Given the description of an element on the screen output the (x, y) to click on. 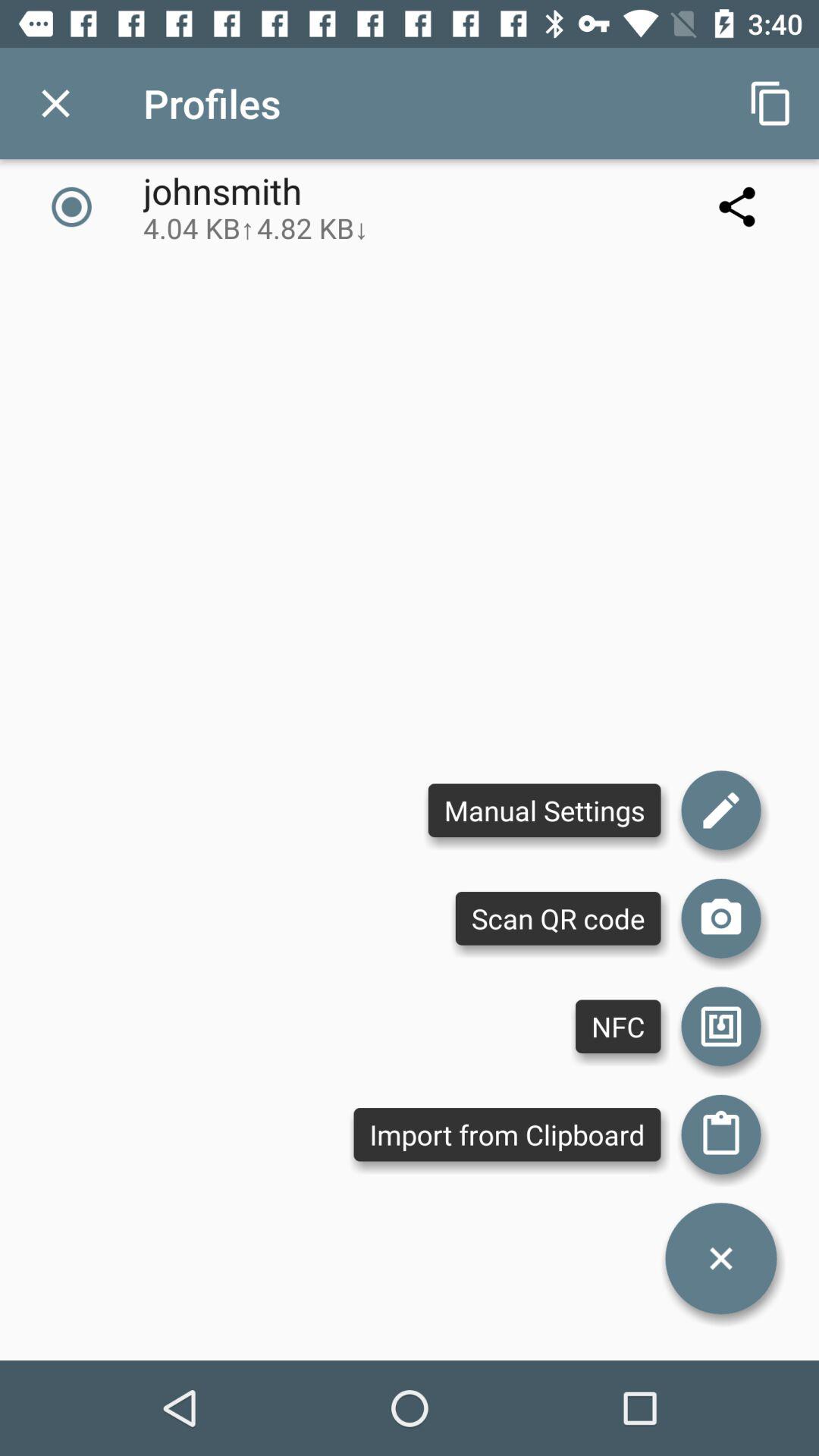
select the icon to the right of johnsmith 4 04 icon (736, 206)
